Given the description of an element on the screen output the (x, y) to click on. 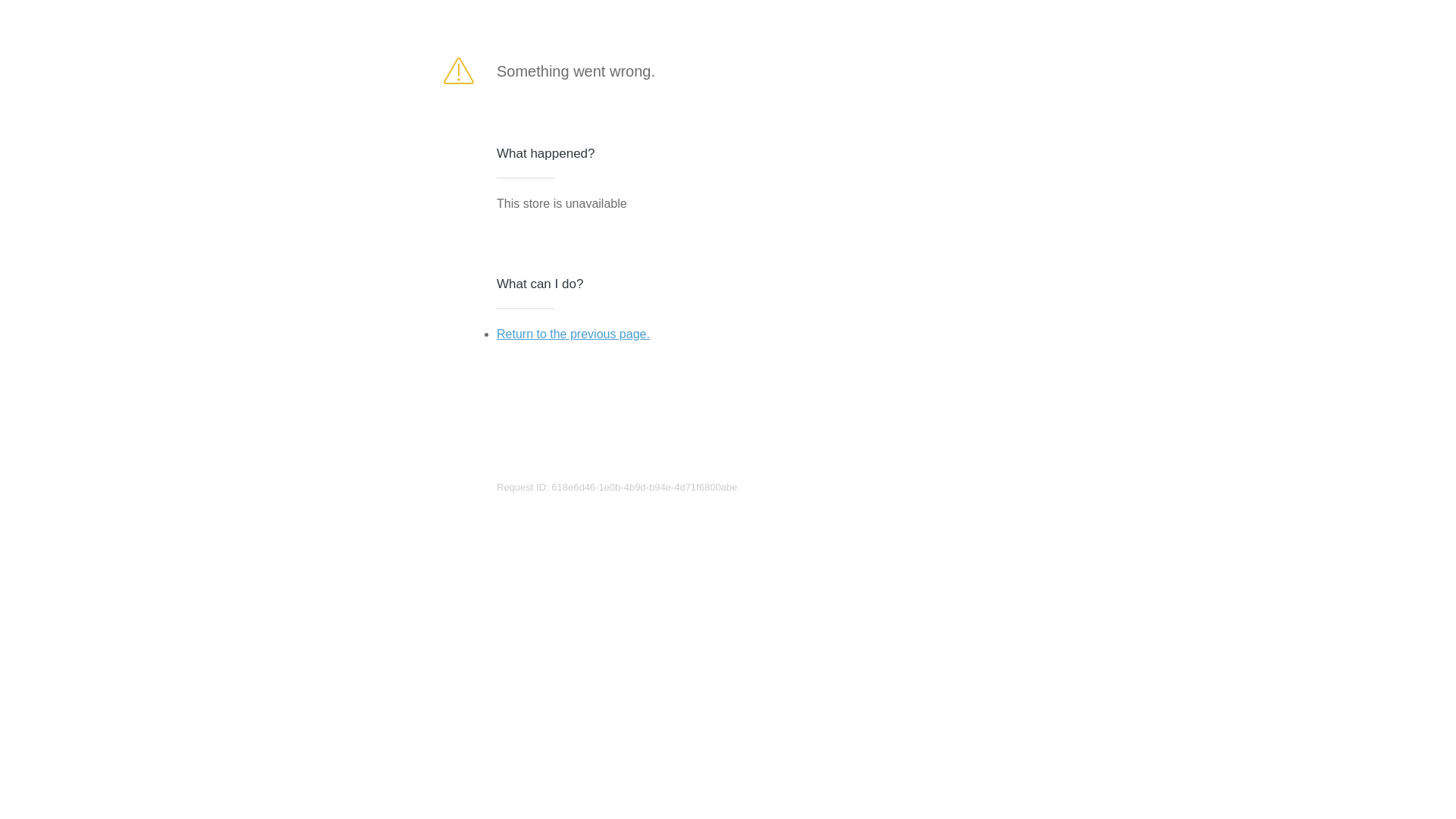
Return to the previous page. Element type: text (572, 333)
